Given the description of an element on the screen output the (x, y) to click on. 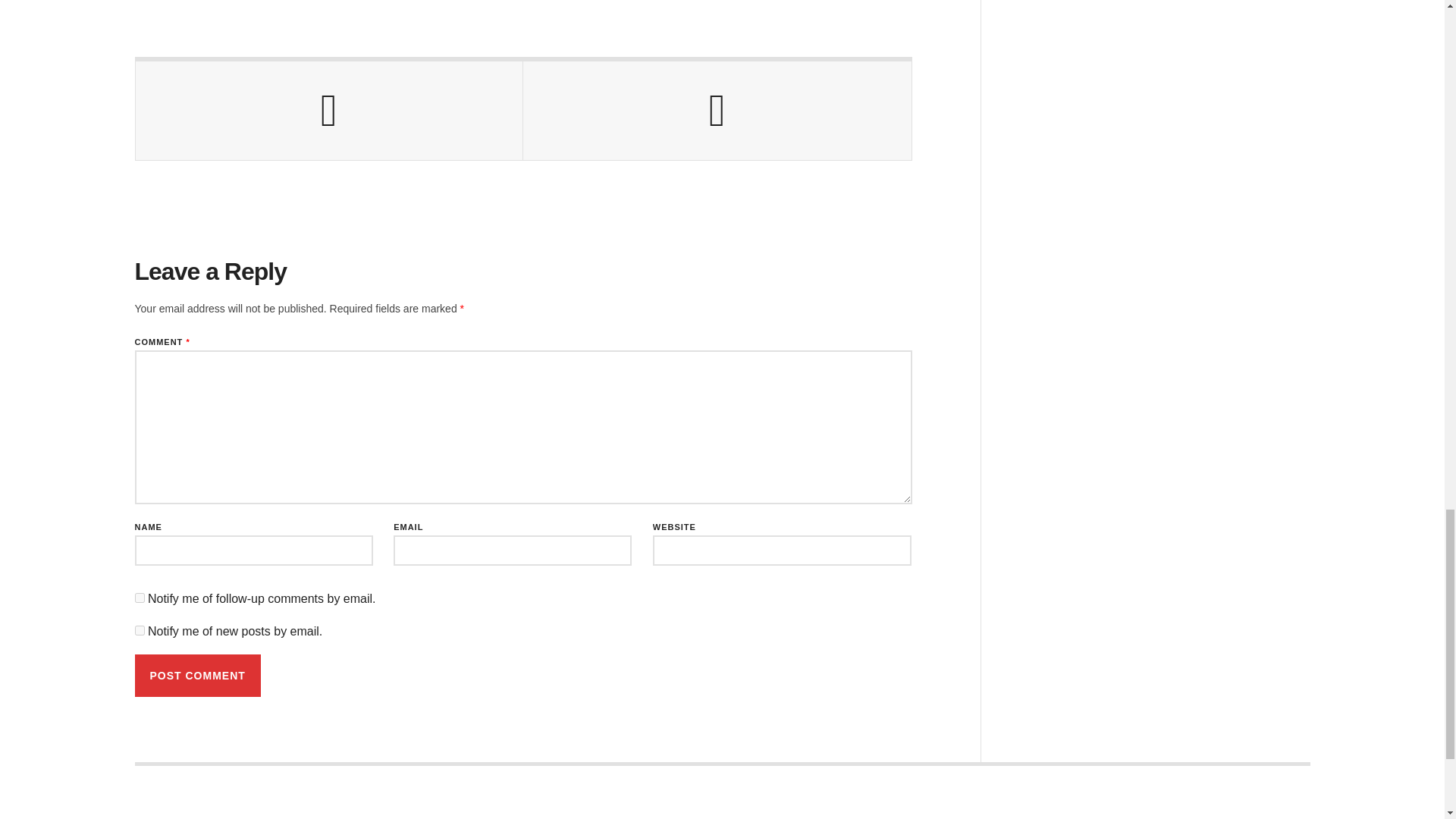
Previous Post (328, 110)
subscribe (139, 630)
Post Comment (197, 675)
Post Comment (197, 675)
Next Post (716, 110)
subscribe (139, 597)
